Given the description of an element on the screen output the (x, y) to click on. 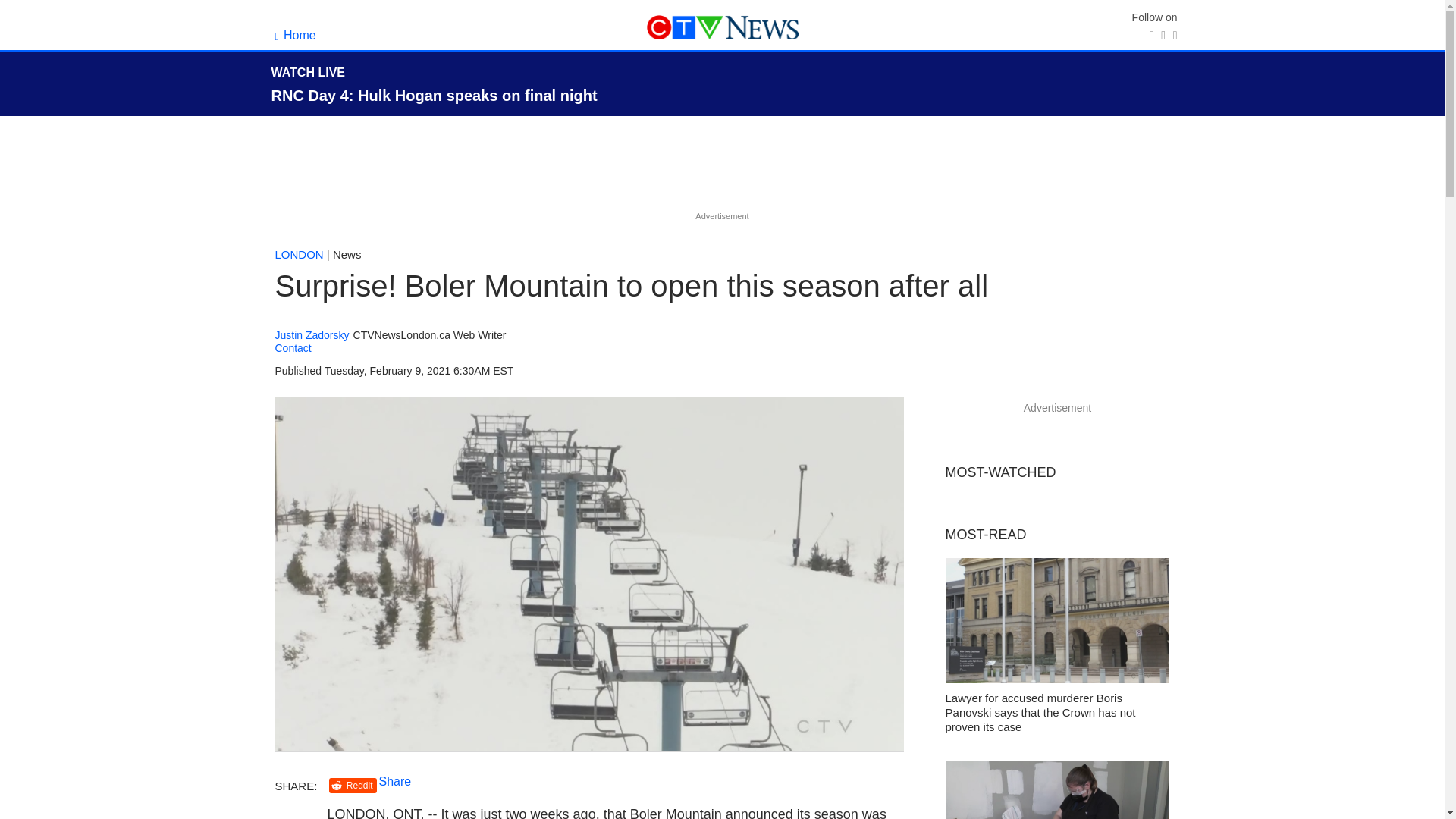
Reddit (353, 785)
3rd party ad content (721, 172)
RNC Day 4: Hulk Hogan speaks on final night (433, 95)
Home (295, 34)
LONDON (299, 254)
Contact (293, 347)
Share (395, 780)
Justin Zadorsky (312, 335)
